Given the description of an element on the screen output the (x, y) to click on. 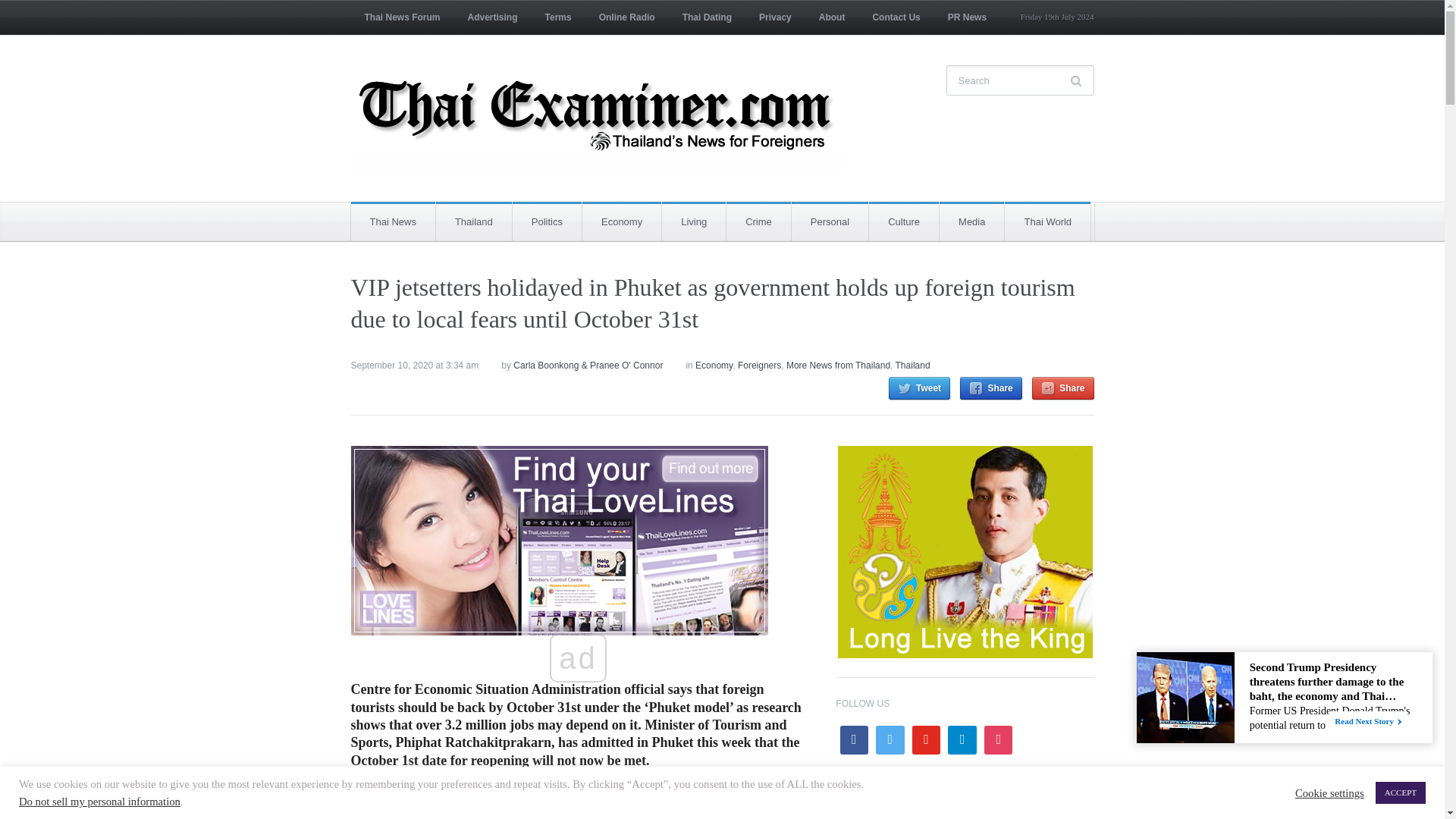
Economy (621, 220)
Thai World (1047, 220)
Media (971, 220)
Thailand (473, 220)
Living (693, 220)
Tweet (919, 387)
Personal (829, 220)
ThaiExaminer Privacy Policy for Online users (775, 17)
Advertising on Thai Examiner (492, 17)
Thai News that impacts your personal life (829, 220)
PR News (967, 17)
Privacy (775, 17)
Advertising (492, 17)
Terms and Conditions for Online users and Advertisers (558, 17)
Money, business and finance in Thailand (621, 220)
